Given the description of an element on the screen output the (x, y) to click on. 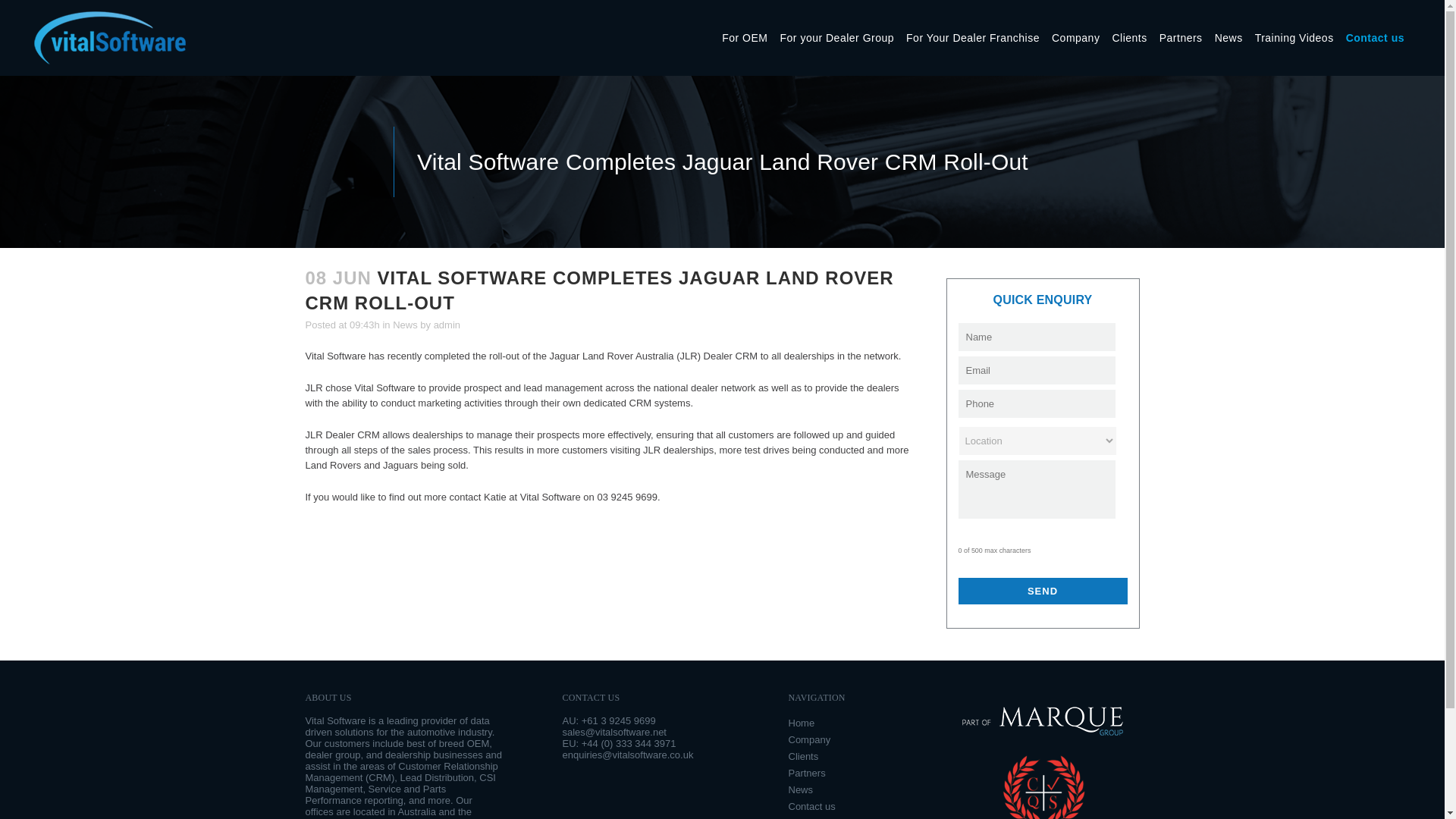
Contact us (1374, 38)
Training Videos (1294, 38)
For Your Dealer Franchise (972, 38)
For your Dealer Group (836, 38)
Send (1042, 591)
